Given the description of an element on the screen output the (x, y) to click on. 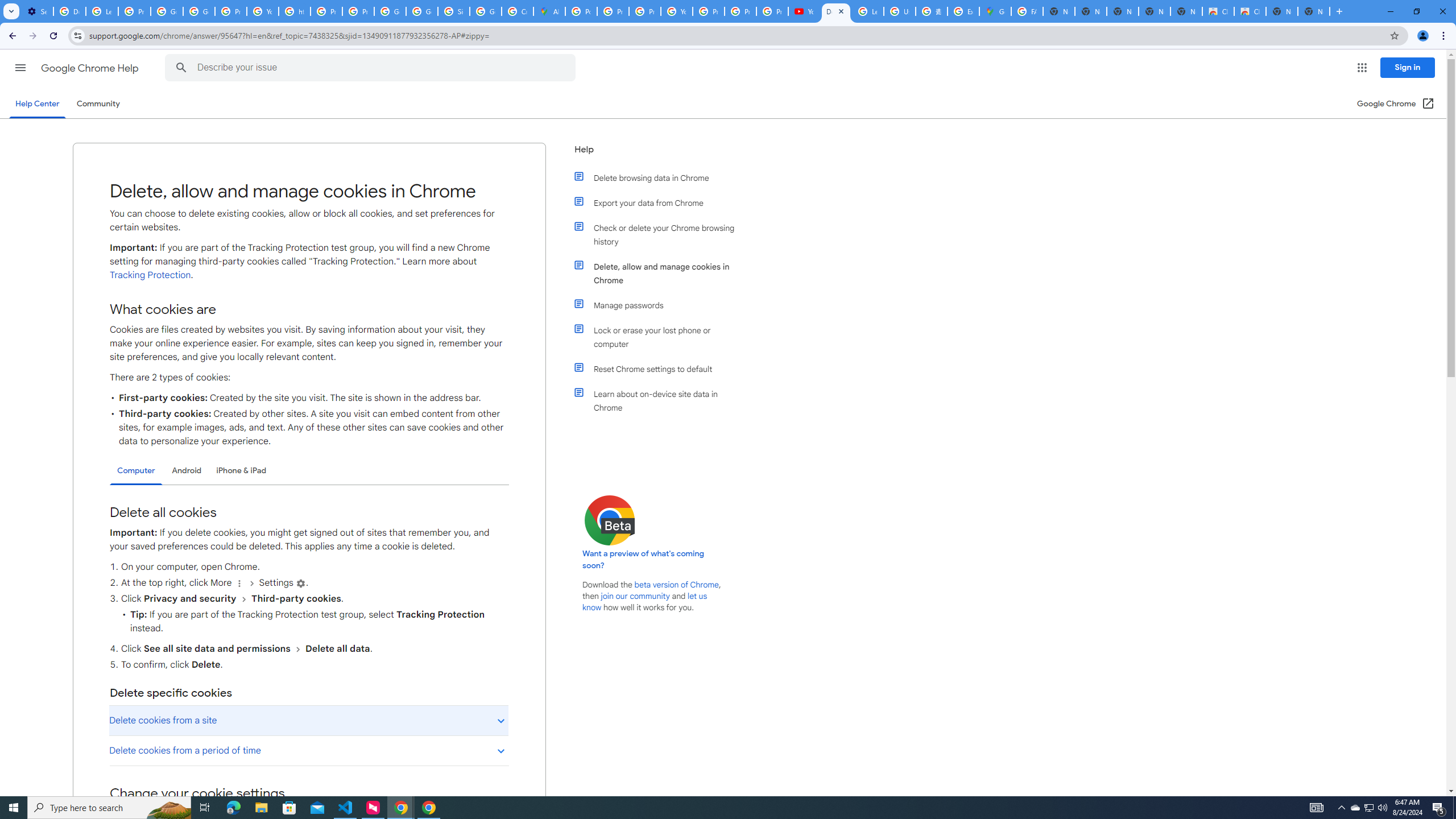
and then (297, 648)
Google Account Help (166, 11)
YouTube (262, 11)
Explore new street-level details - Google Maps Help (963, 11)
Create your Google Account (517, 11)
Privacy Checkup (772, 11)
Want a preview of what's coming soon? (643, 559)
Main menu (20, 67)
Privacy Checkup (740, 11)
